Given the description of an element on the screen output the (x, y) to click on. 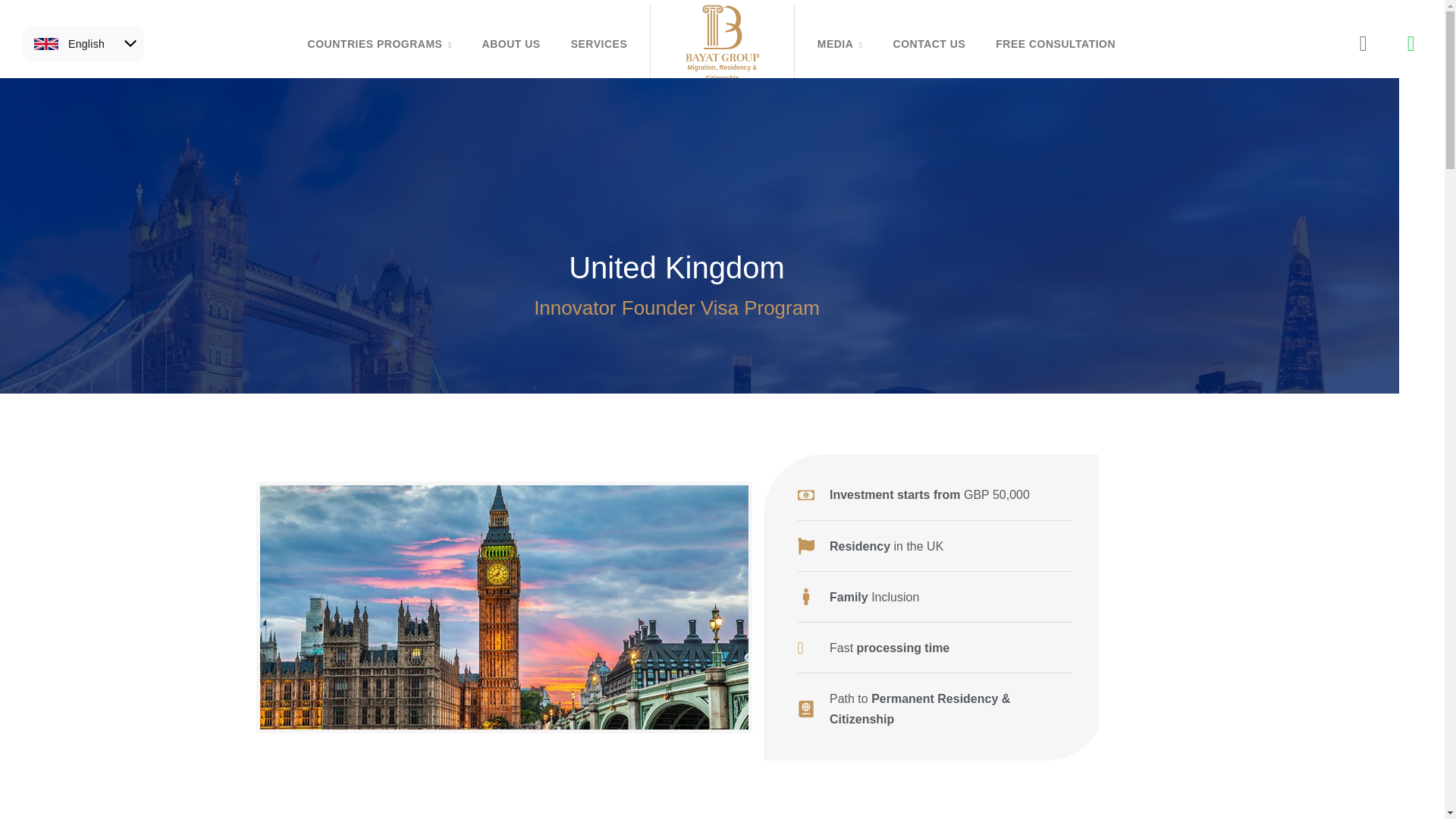
COUNTRIES PROGRAMS (379, 43)
ABOUT US (510, 43)
SERVICES (598, 43)
02 (504, 607)
